Given the description of an element on the screen output the (x, y) to click on. 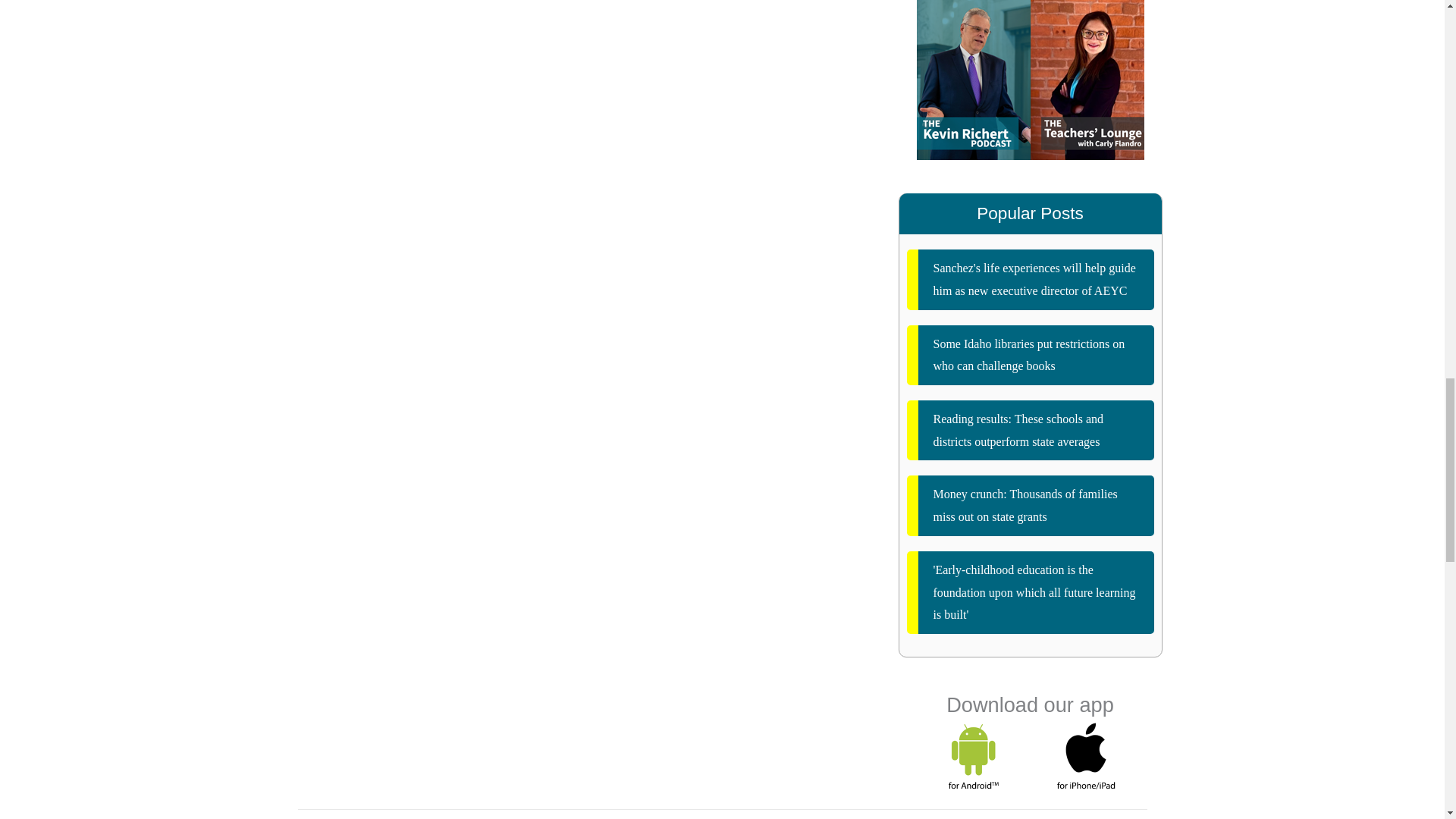
Money crunch: Thousands of families miss out on state grants (1030, 505)
